Given the description of an element on the screen output the (x, y) to click on. 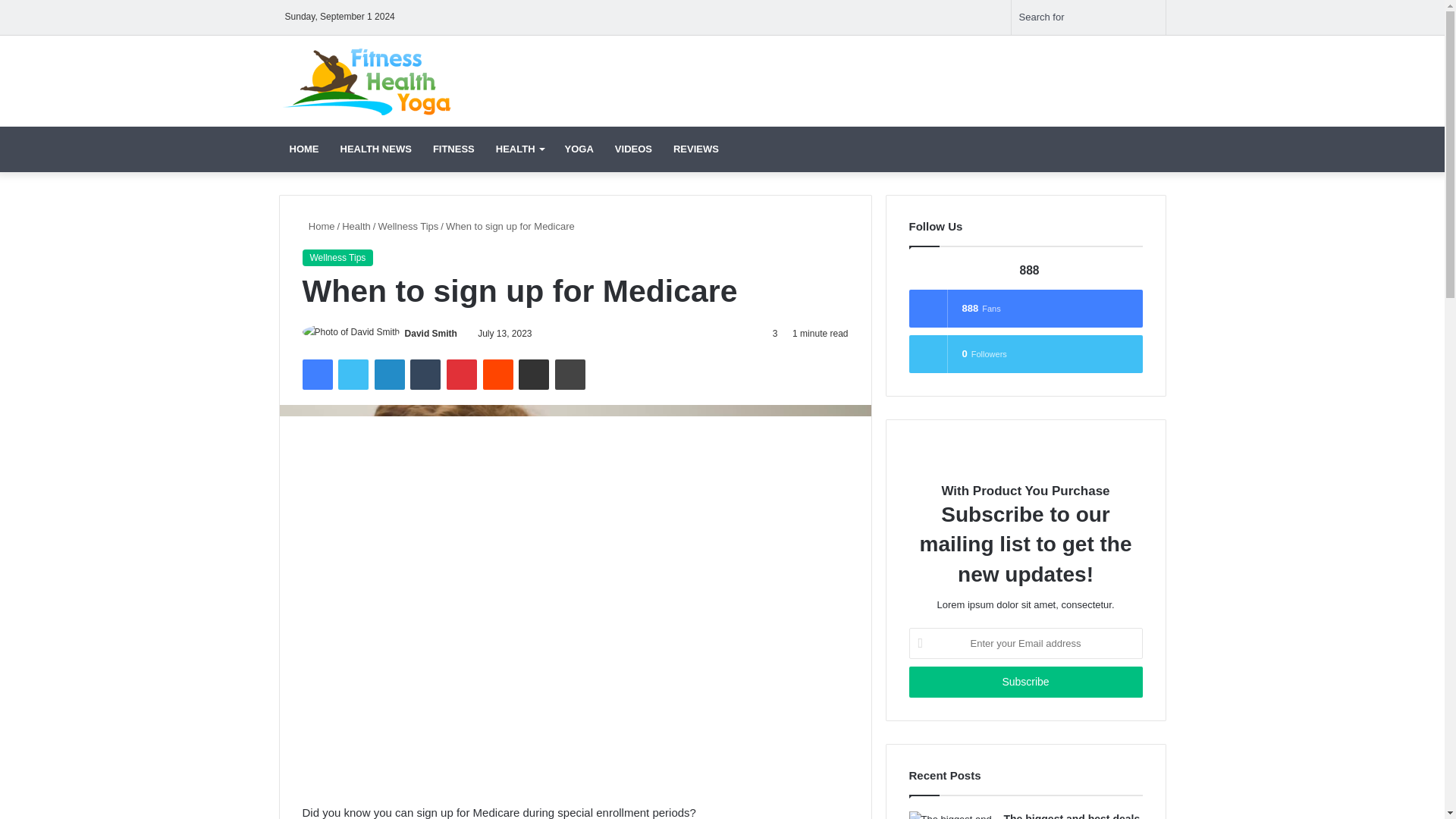
Tumblr (425, 374)
Twitter (352, 374)
Print (569, 374)
Search for (1088, 17)
Facebook (316, 374)
Facebook (316, 374)
REVIEWS (695, 148)
Print (569, 374)
HEALTH (519, 148)
Reddit (498, 374)
